Given the description of an element on the screen output the (x, y) to click on. 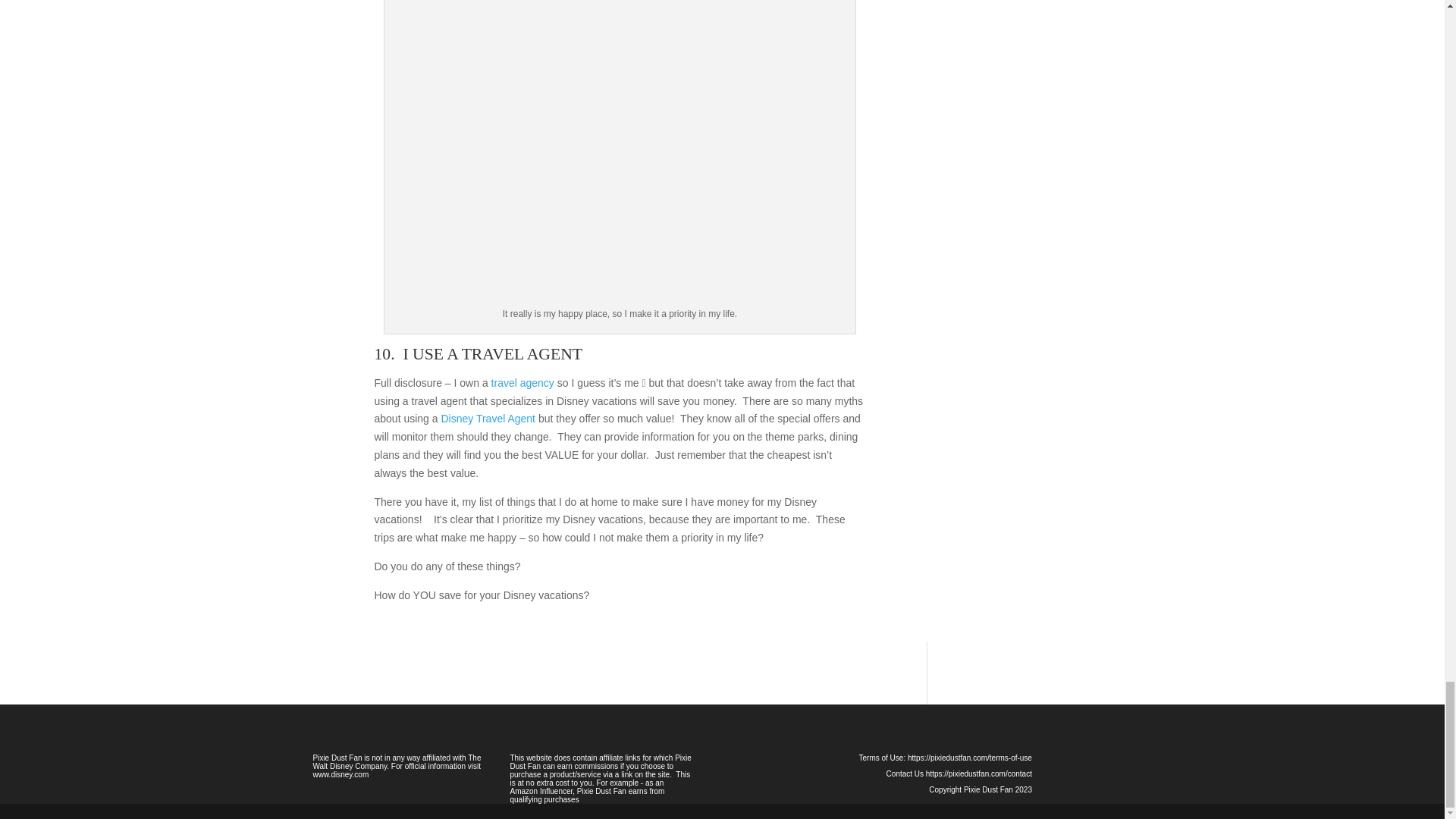
travel agency (523, 382)
Disney Travel Agent (488, 418)
